Given the description of an element on the screen output the (x, y) to click on. 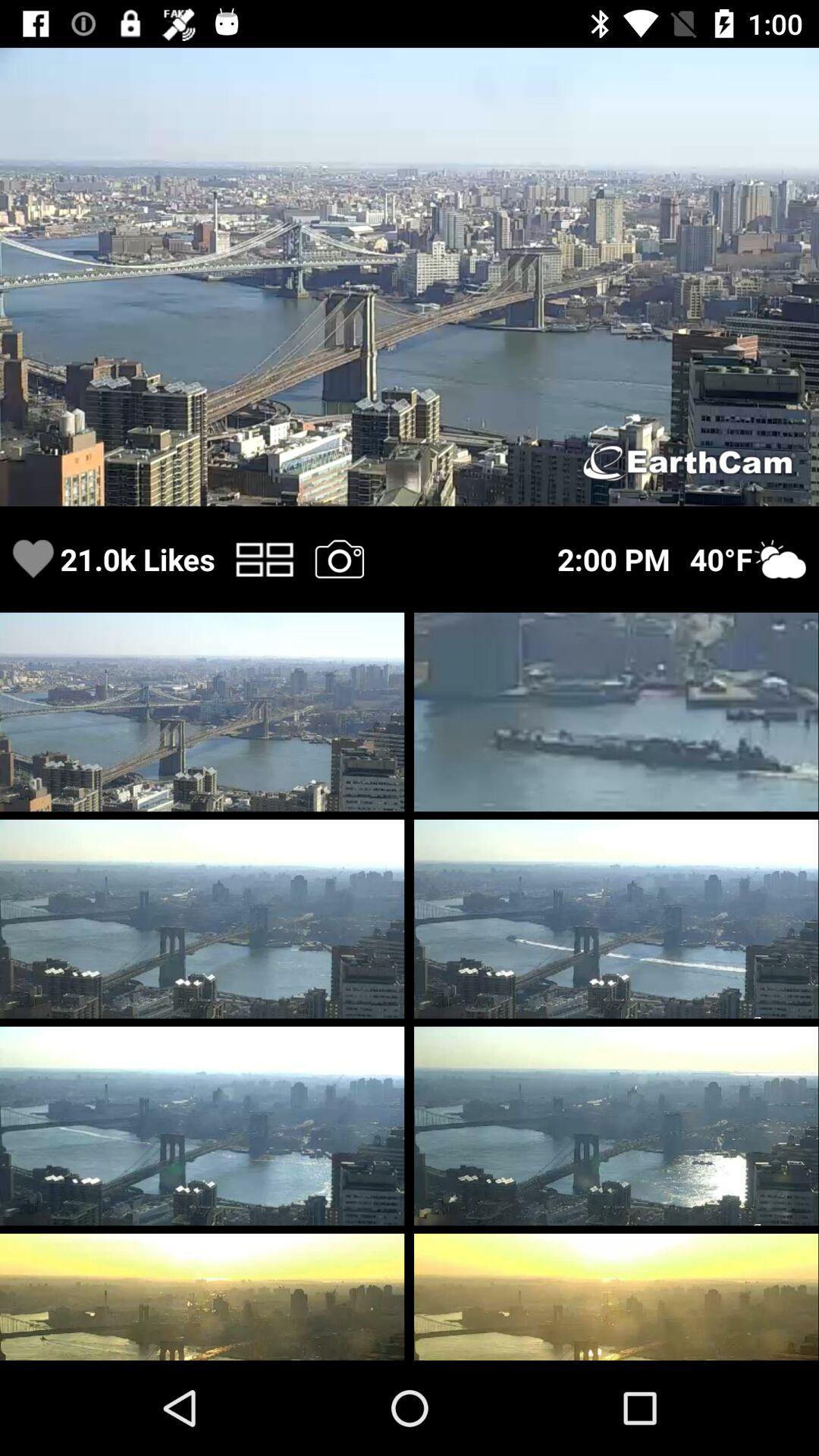
switch photo disposal (264, 559)
